Given the description of an element on the screen output the (x, y) to click on. 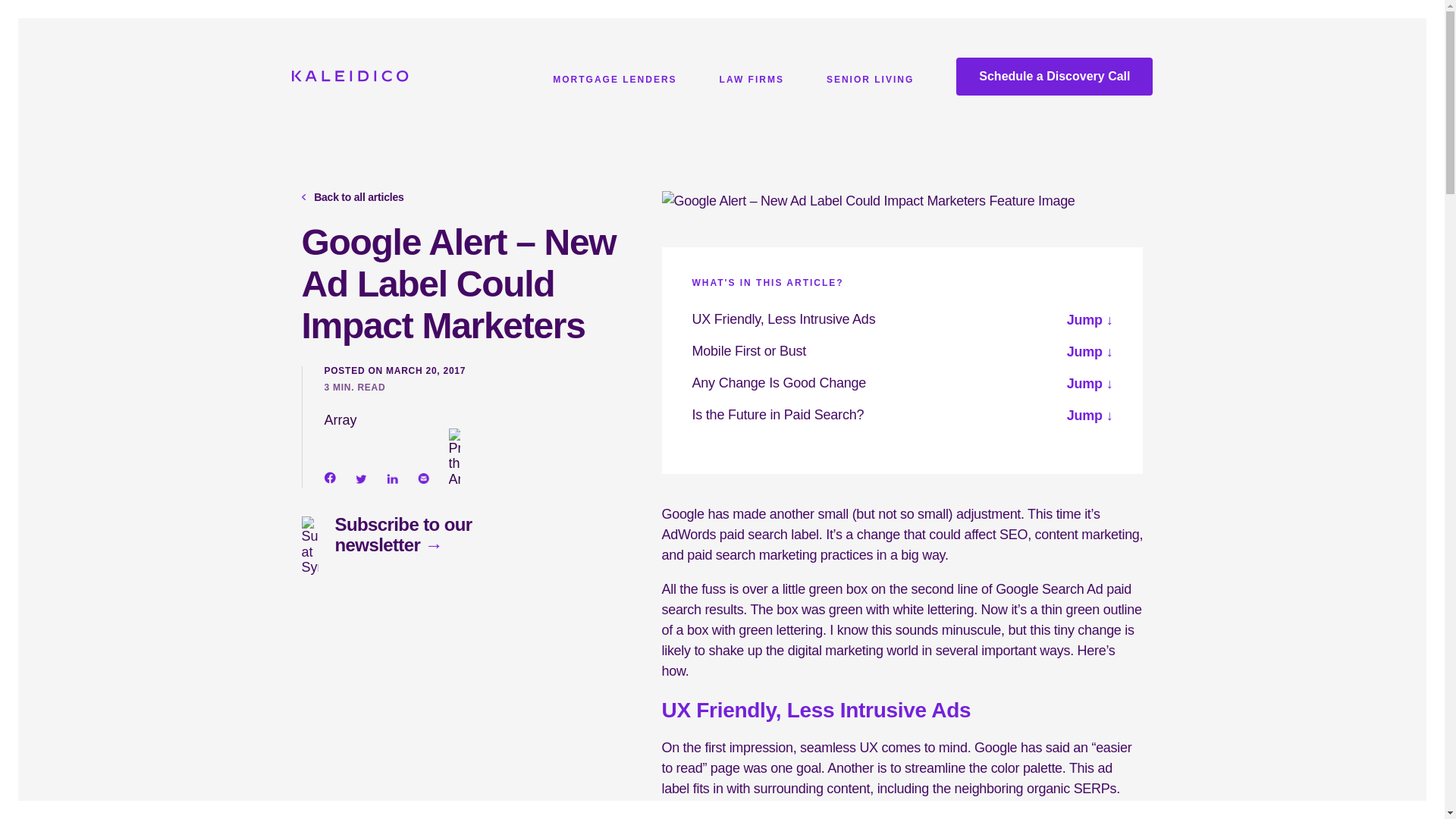
LAW FIRMS (751, 87)
SENIOR LIVING (870, 87)
Schedule a Discovery Call (1054, 76)
Kaleidico (349, 75)
Kaleidico (241, 79)
MORTGAGE LENDERS (615, 87)
Kaleidico (349, 77)
